Given the description of an element on the screen output the (x, y) to click on. 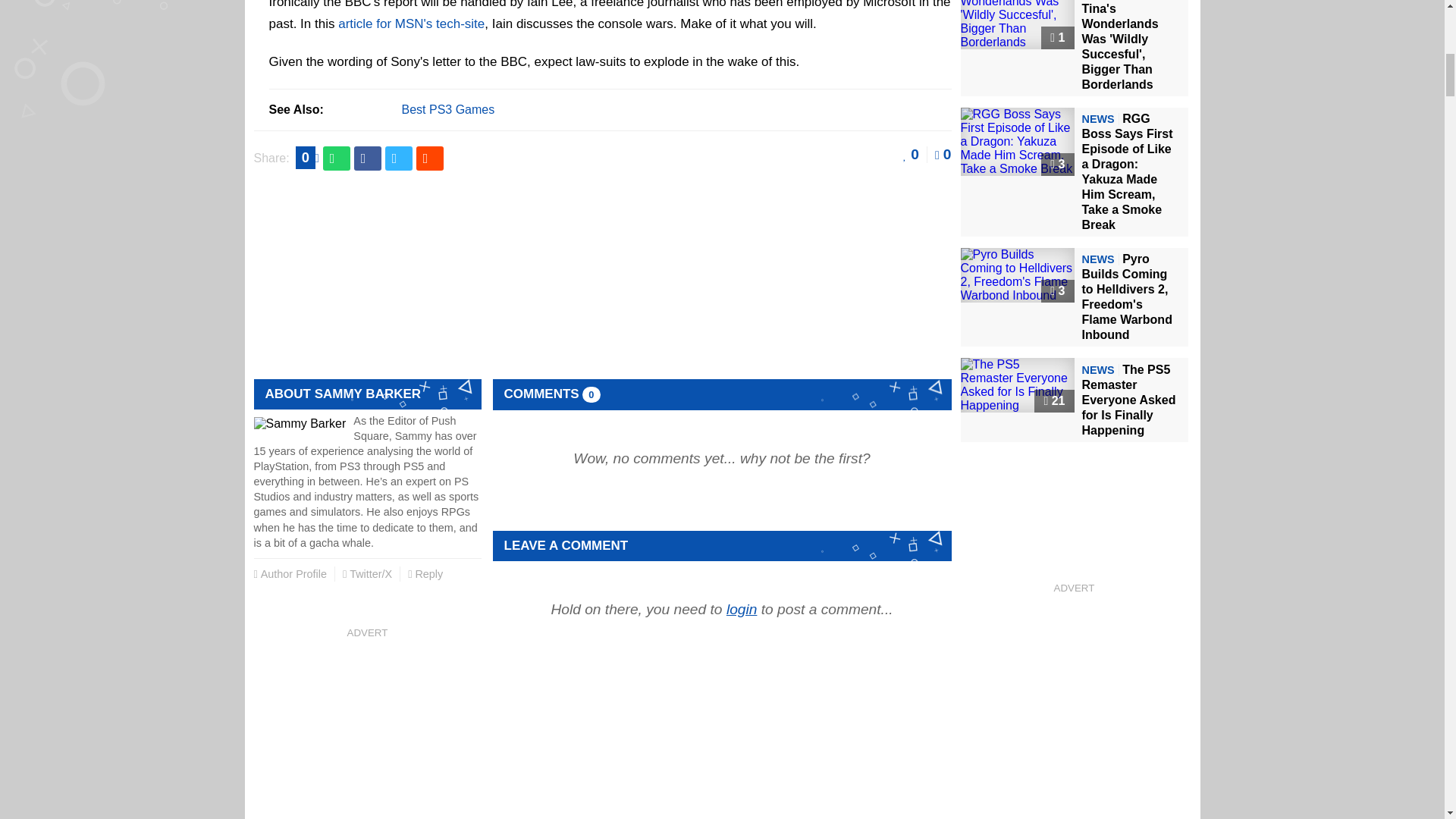
Share this on Twitter (398, 158)
Share this on Facebook (367, 158)
Share this on WhatsApp (336, 158)
